Given the description of an element on the screen output the (x, y) to click on. 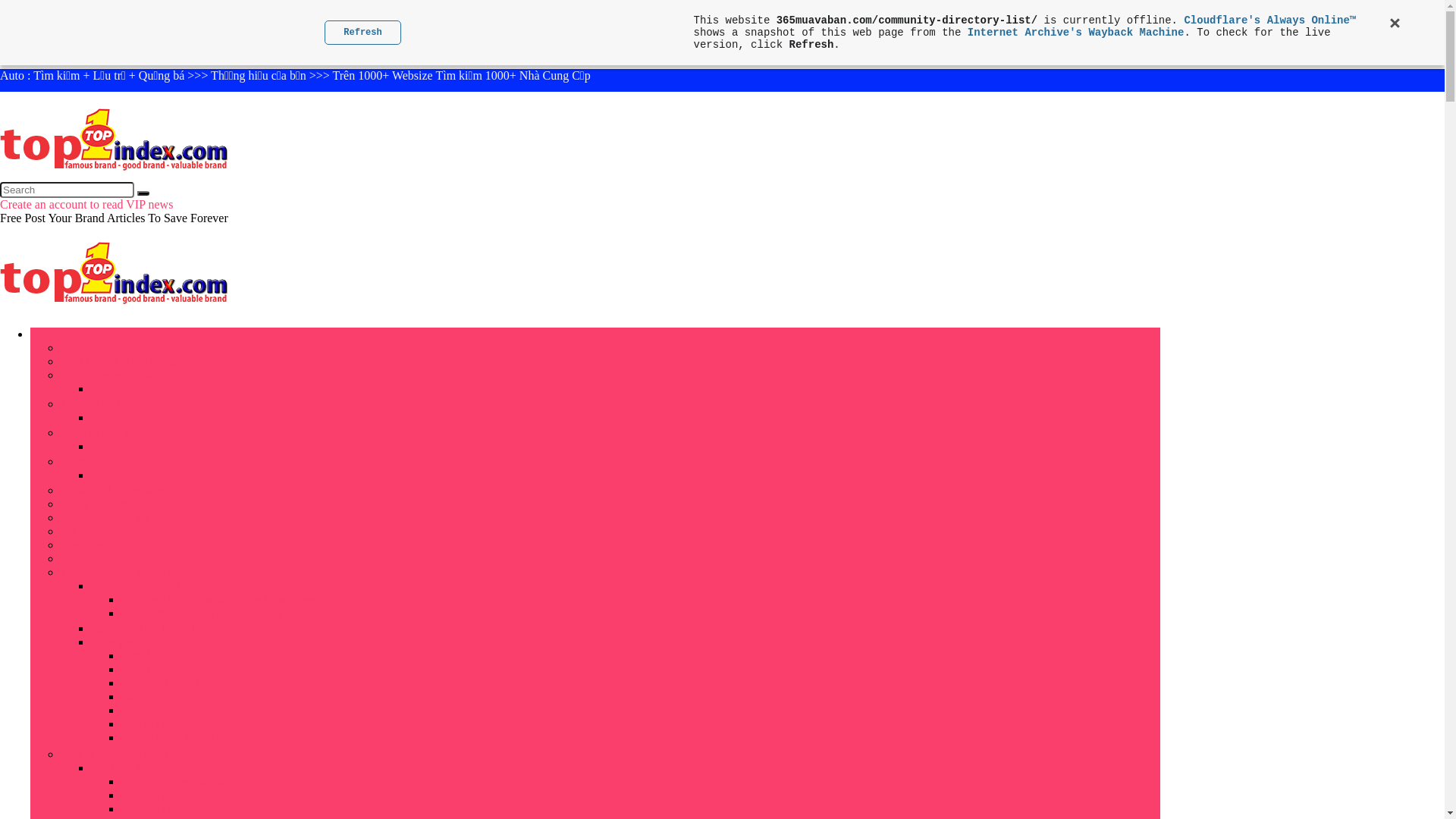
Refresh Element type: text (362, 32)
Create an account to read VIP news Element type: text (86, 203)
Advanced with Variations and Swatches Element type: text (218, 599)
User generated price comparison Element type: text (201, 612)
Audio and Television Element type: text (112, 489)
Advanced Product Layouts Element type: text (156, 585)
Jewelry and Watches Element type: text (111, 403)
Browse Categories Element type: text (76, 333)
Smartphones & gadgets Element type: text (118, 374)
Camera And Photo Element type: text (106, 432)
Shop pages Element type: text (118, 641)
Cart Element type: text (131, 696)
Regular shop page Element type: text (166, 655)
Basic product Layouts Element type: text (145, 627)
Product List Element type: text (151, 723)
Woocommerce Layouts Element type: text (117, 571)
Clothing and Shoes Element type: text (107, 461)
Inline with Avatars Element type: text (167, 682)
Featured Product Sections Element type: text (184, 709)
Product grid layouts Element type: text (170, 737)
Tutorials Element type: text (81, 558)
All stores Element type: text (83, 530)
Compact Deal under Title Element type: text (184, 794)
Homepage as Grid Element type: text (105, 347)
Post & Review Layouts Element type: text (117, 753)
Homepage as List Element type: text (104, 517)
Computers and IT Element type: text (104, 503)
Internet Archive's Wayback Machine Element type: text (1075, 32)
Compact deal Element type: text (154, 808)
Deal and Coupon Layouts Element type: text (154, 767)
Brand Page Element type: text (149, 668)
How to add MegaMenu Element type: text (117, 360)
Big Offer Post Layout Element type: text (175, 781)
Store page Element type: text (86, 544)
